Given the description of an element on the screen output the (x, y) to click on. 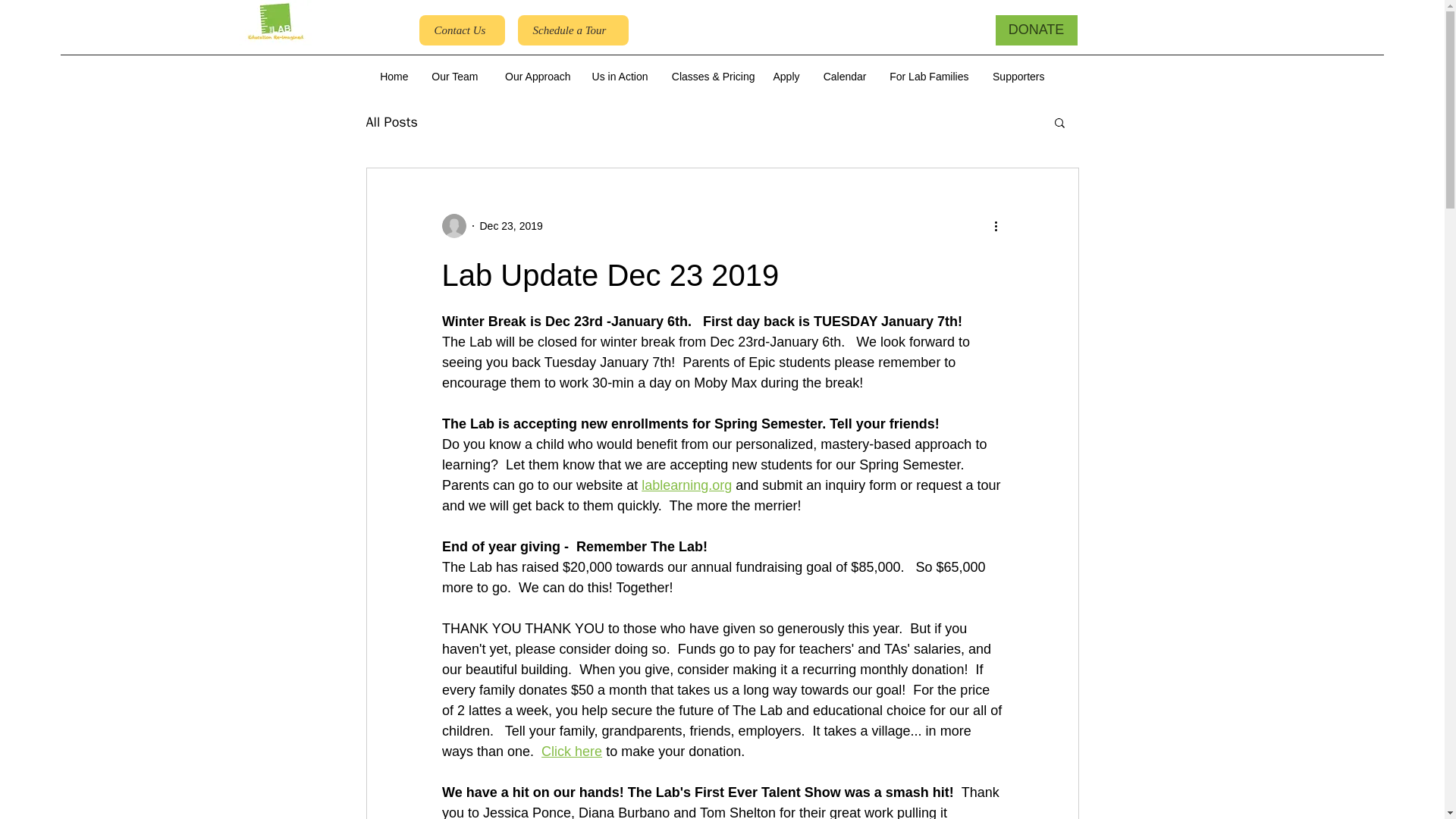
Contact Us (461, 30)
DONATE (1035, 30)
Apply (785, 76)
For Lab Families (924, 76)
Click here (571, 751)
All Posts (390, 122)
Us in Action (616, 76)
Schedule a Tour (571, 30)
Our Approach (531, 76)
Home (390, 76)
